Given the description of an element on the screen output the (x, y) to click on. 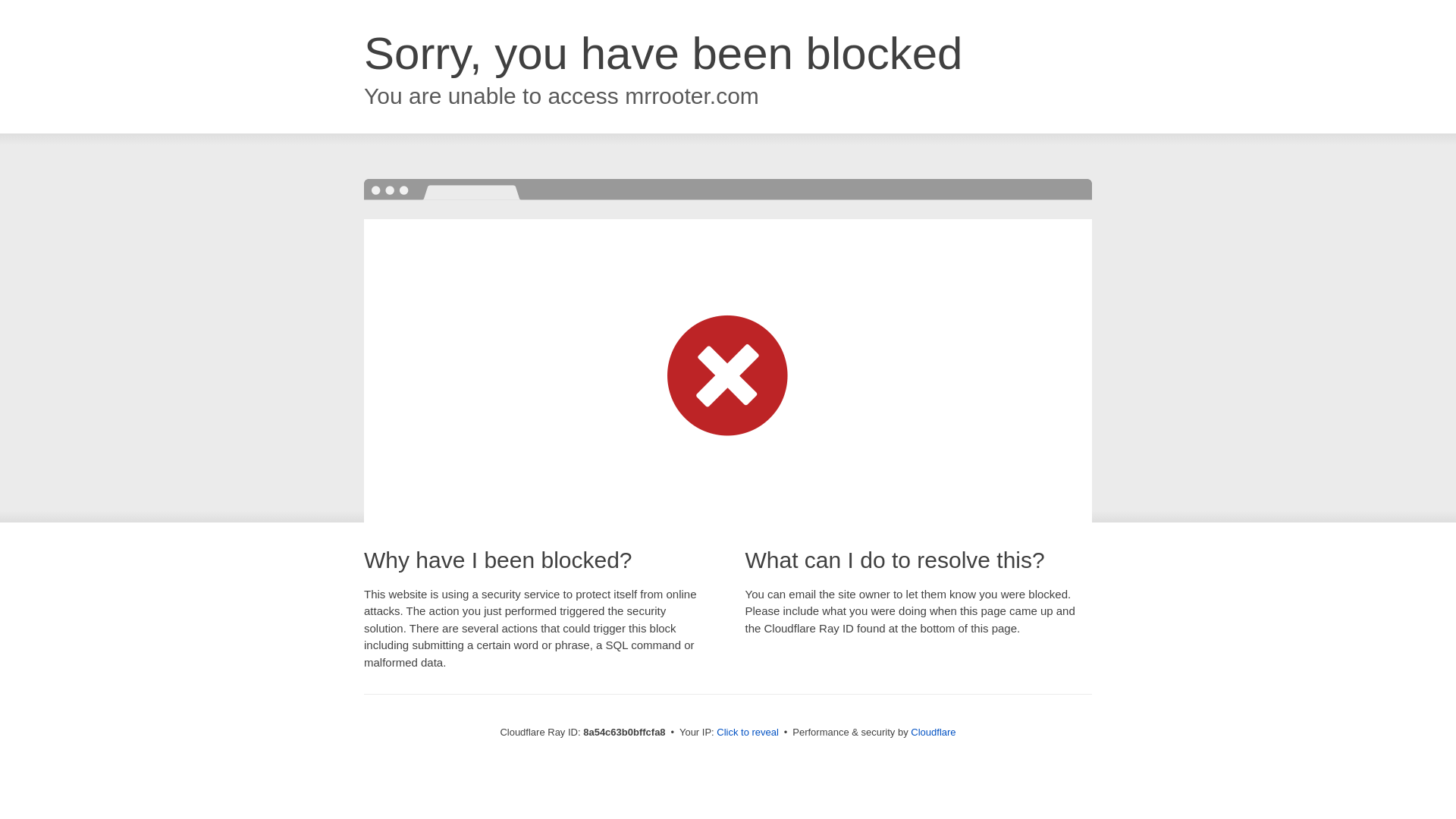
Click to reveal (747, 732)
Cloudflare (933, 731)
